Given the description of an element on the screen output the (x, y) to click on. 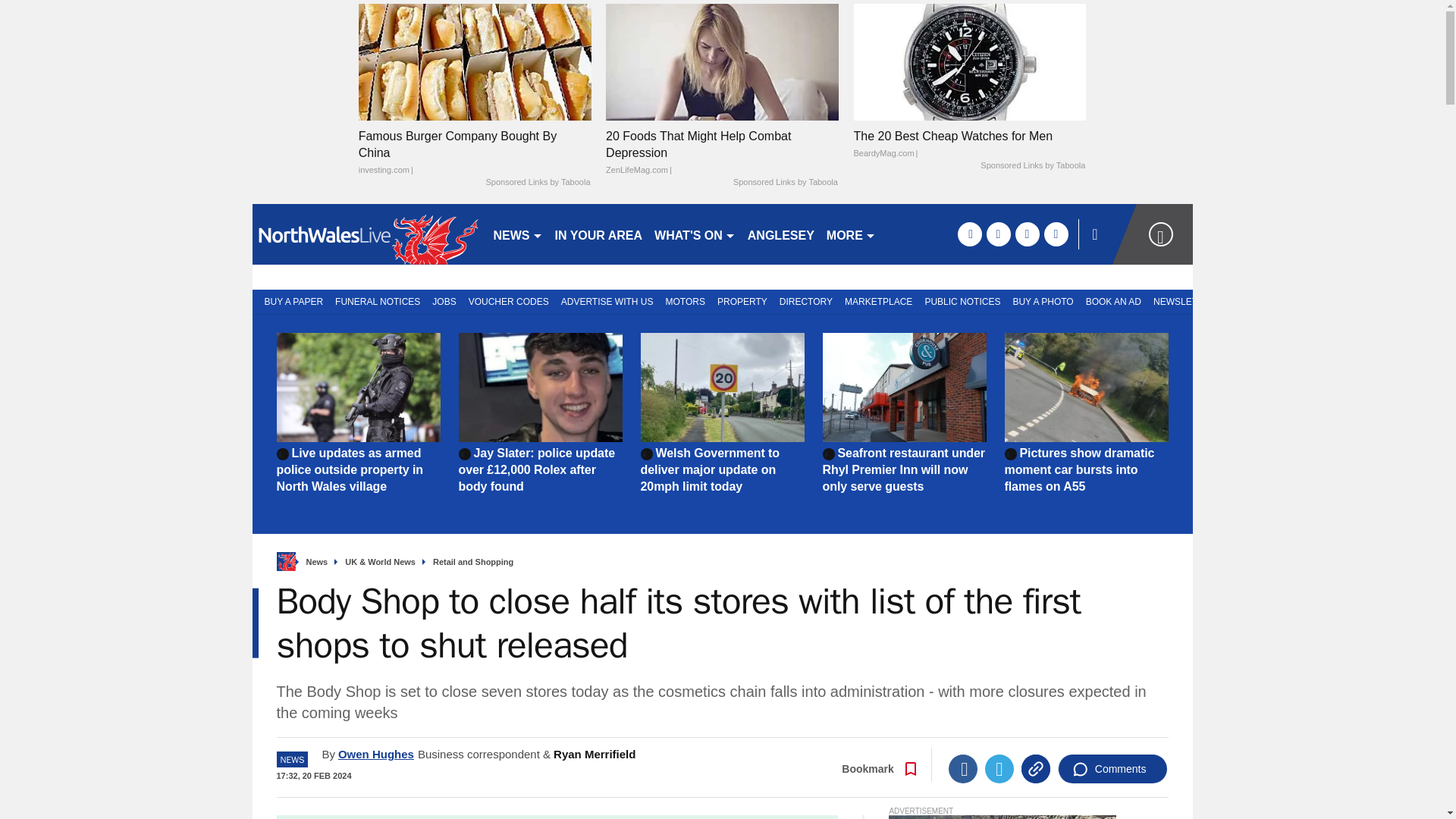
Sponsored Links by Taboola (536, 182)
pinterest (1026, 233)
twitter (997, 233)
NEWS (517, 233)
Twitter (999, 768)
The 20 Best Cheap Watches for Men (969, 144)
20 Foods That Might Help Combat Depression (721, 61)
Famous Burger Company Bought By China (474, 61)
instagram (1055, 233)
Sponsored Links by Taboola (1031, 165)
The 20 Best Cheap Watches for Men (969, 61)
Facebook (962, 768)
20 Foods That Might Help Combat Depression (721, 152)
ANGLESEY (781, 233)
IN YOUR AREA (598, 233)
